Given the description of an element on the screen output the (x, y) to click on. 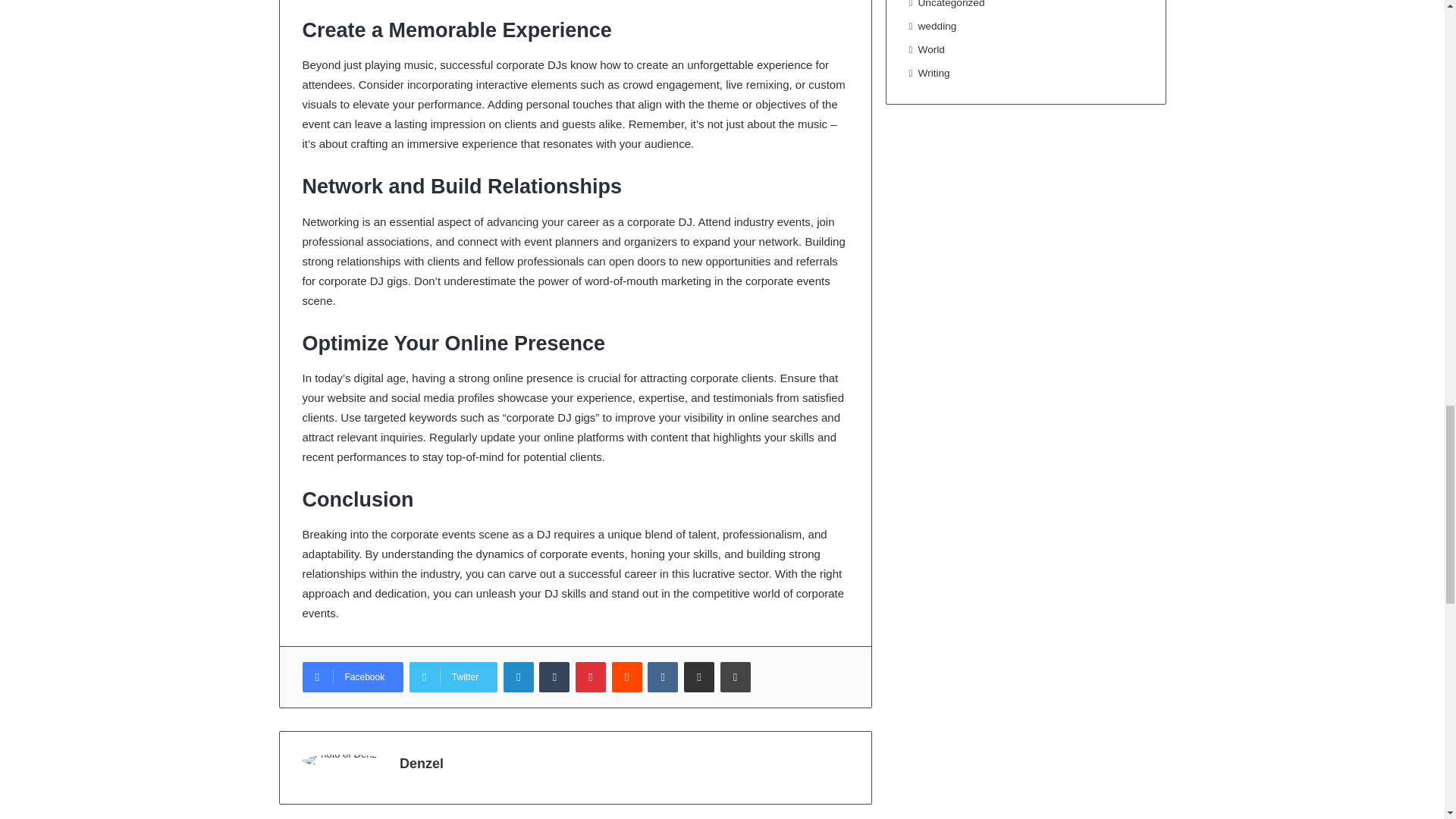
Twitter (453, 676)
Reddit (626, 676)
VKontakte (662, 676)
Share via Email (699, 676)
Share via Email (699, 676)
Twitter (453, 676)
Facebook (352, 676)
Print (735, 676)
VKontakte (662, 676)
Facebook (352, 676)
